Given the description of an element on the screen output the (x, y) to click on. 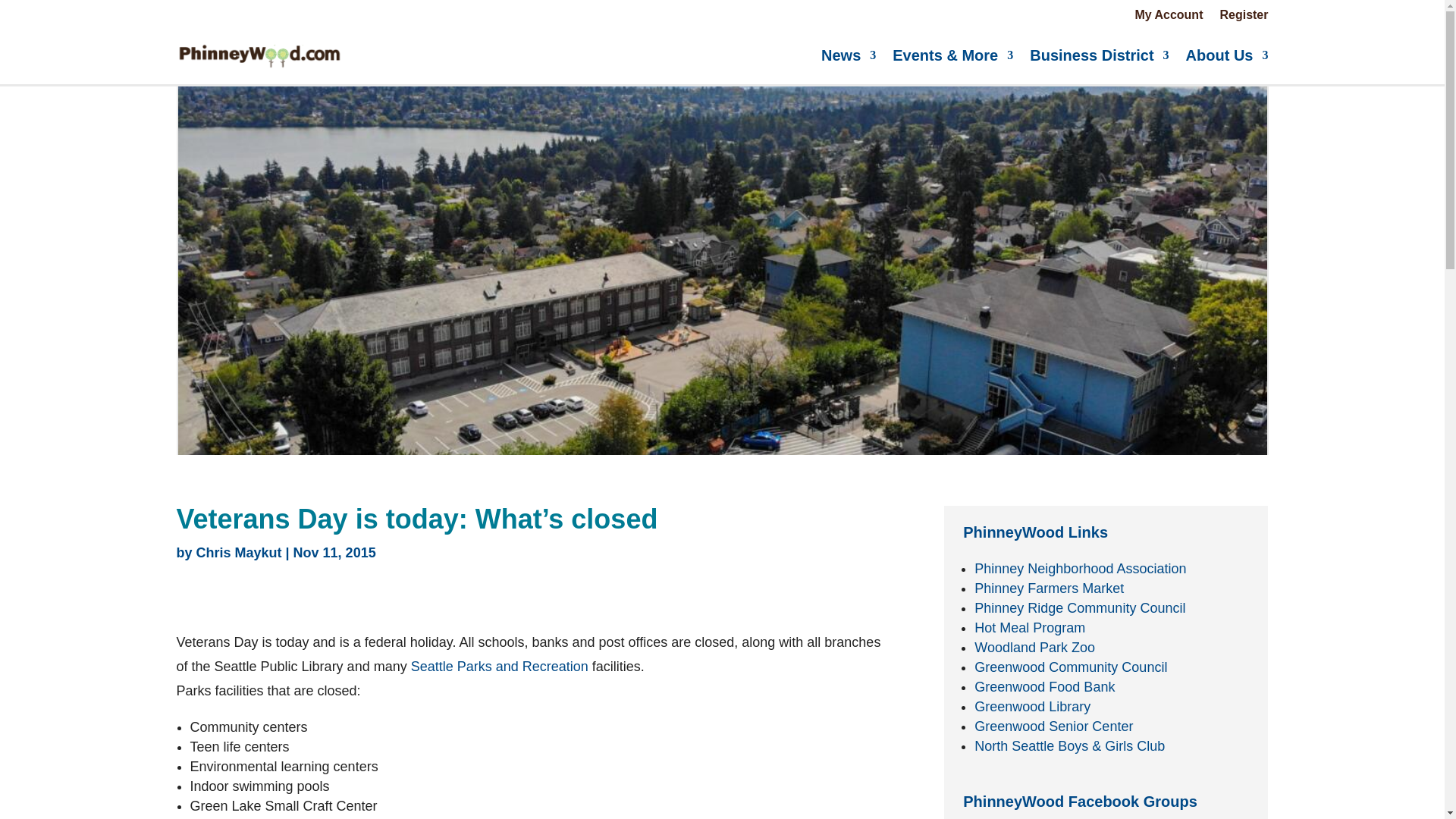
Business District (1099, 55)
My Account (1168, 17)
Register (1244, 17)
Chris Maykut (239, 552)
News (848, 55)
About Us (1227, 55)
Phinney Neighborhood Association (1080, 568)
Phinney Farmers Market (1049, 588)
Seattle Parks and Recreation (499, 666)
Posts by Chris Maykut (239, 552)
